Given the description of an element on the screen output the (x, y) to click on. 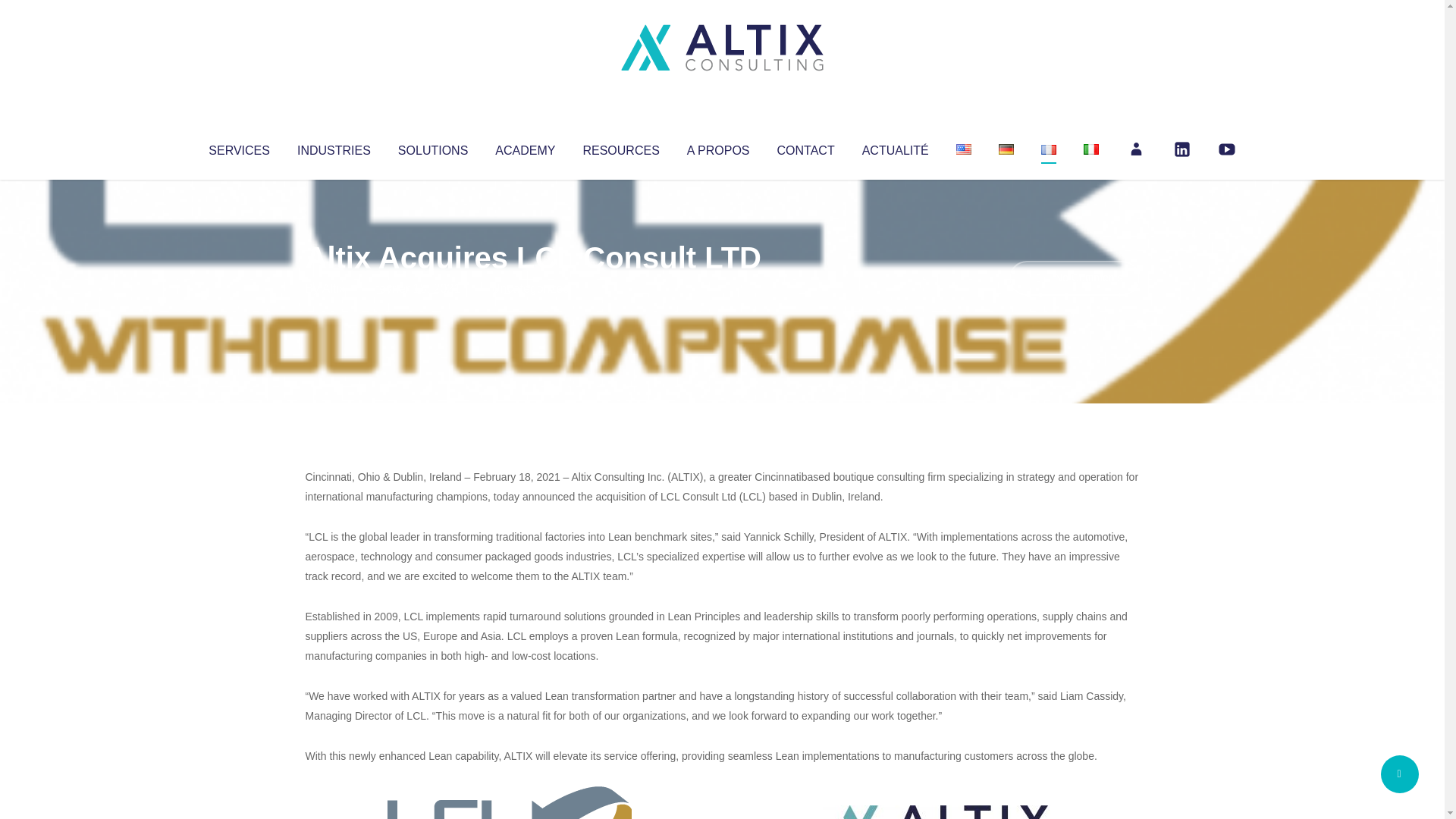
INDUSTRIES (334, 146)
Altix (333, 287)
SERVICES (238, 146)
Articles par Altix (333, 287)
No Comments (1073, 278)
A PROPOS (718, 146)
ACADEMY (524, 146)
SOLUTIONS (432, 146)
RESOURCES (620, 146)
Uncategorized (530, 287)
